Given the description of an element on the screen output the (x, y) to click on. 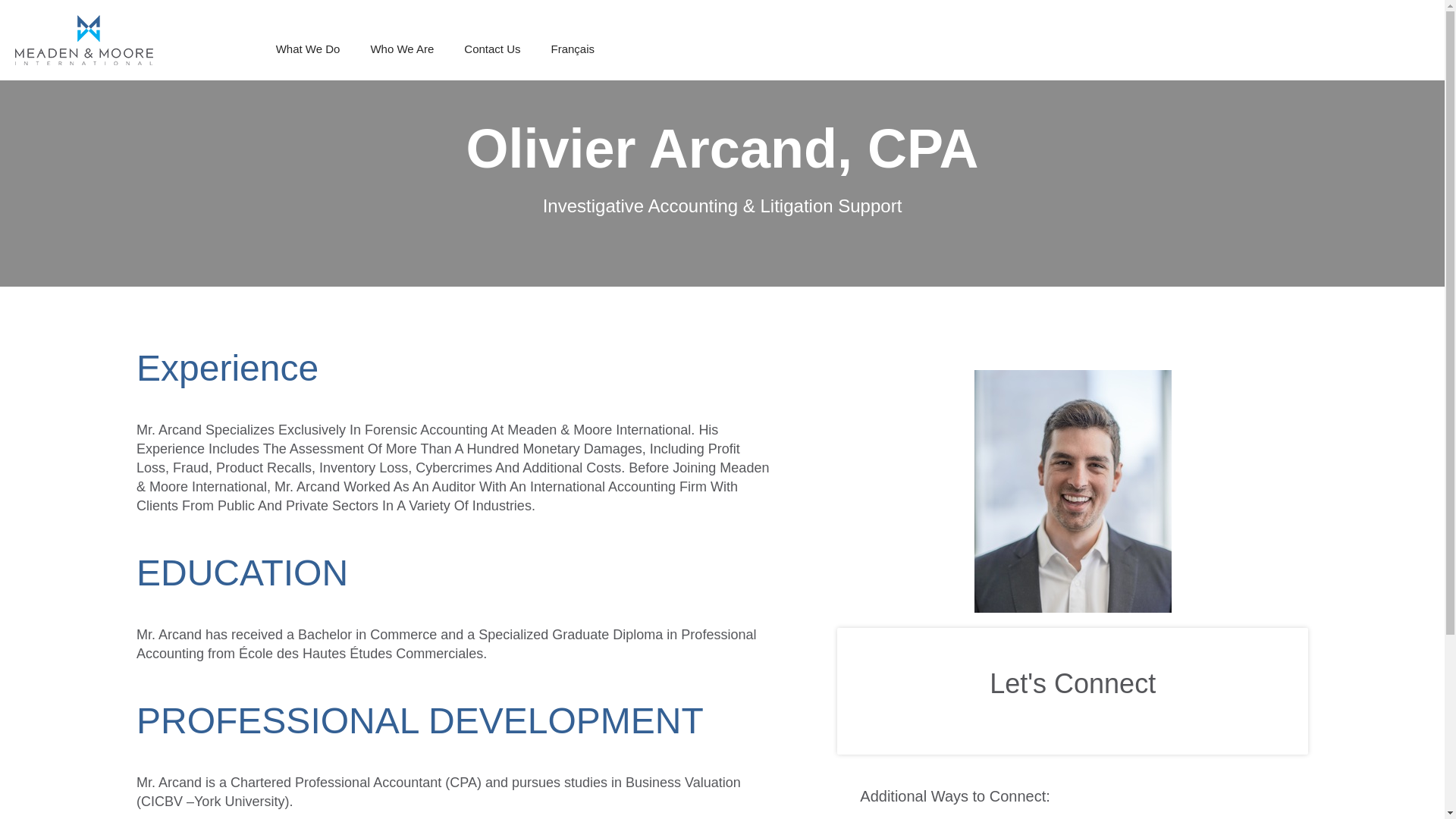
Who We Are (401, 48)
Contact Us (491, 48)
What We Do (307, 48)
